Given the description of an element on the screen output the (x, y) to click on. 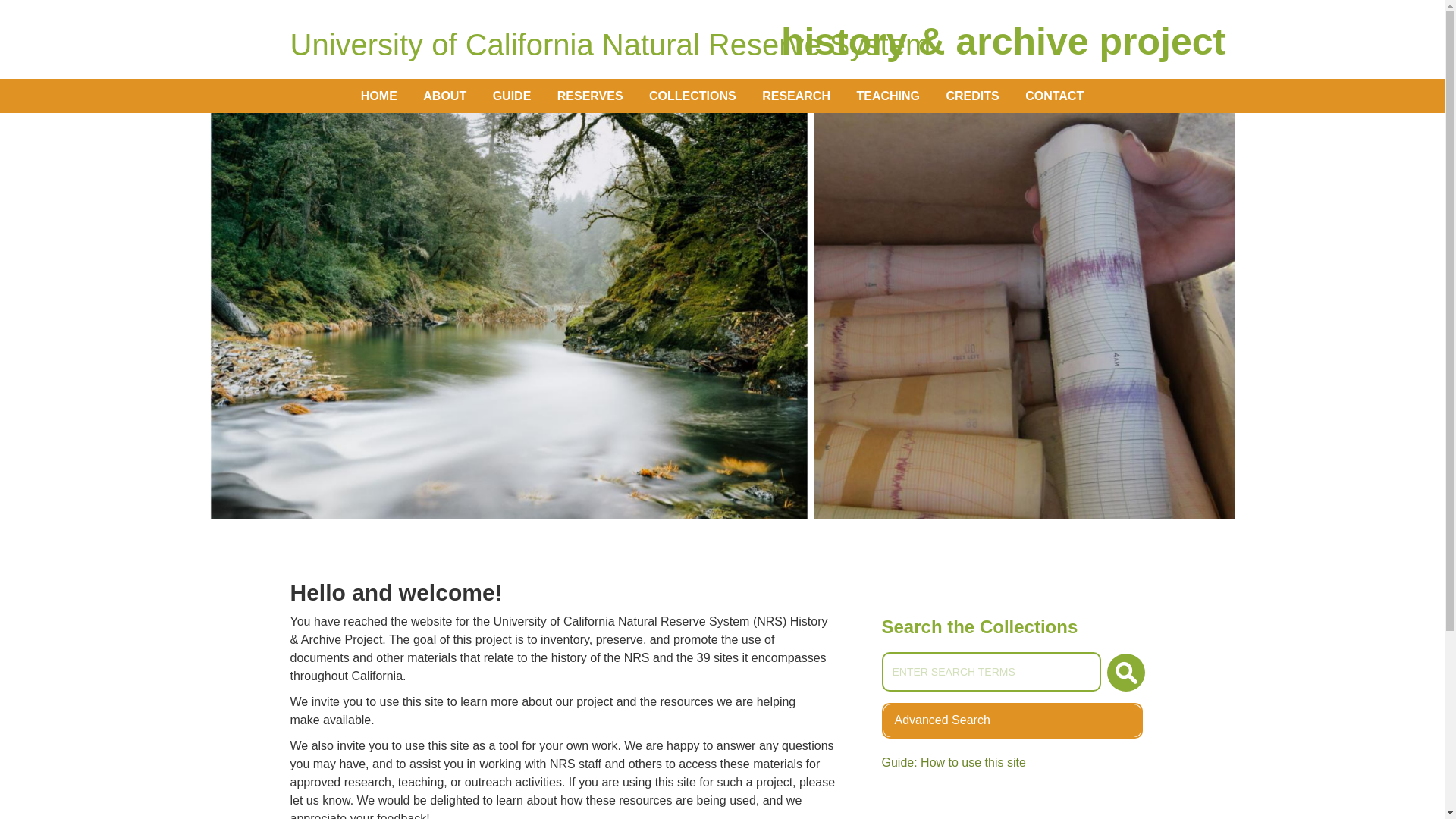
RESERVES (590, 95)
RESEARCH (1011, 719)
TEACHING (796, 95)
CONTACT (887, 95)
Guide: How to use this site (1053, 95)
Search (952, 762)
GUIDE (1125, 672)
COLLECTIONS (512, 95)
Skip to main content (692, 95)
ABOUT (990, 671)
CREDITS (444, 95)
HOME (972, 95)
